Given the description of an element on the screen output the (x, y) to click on. 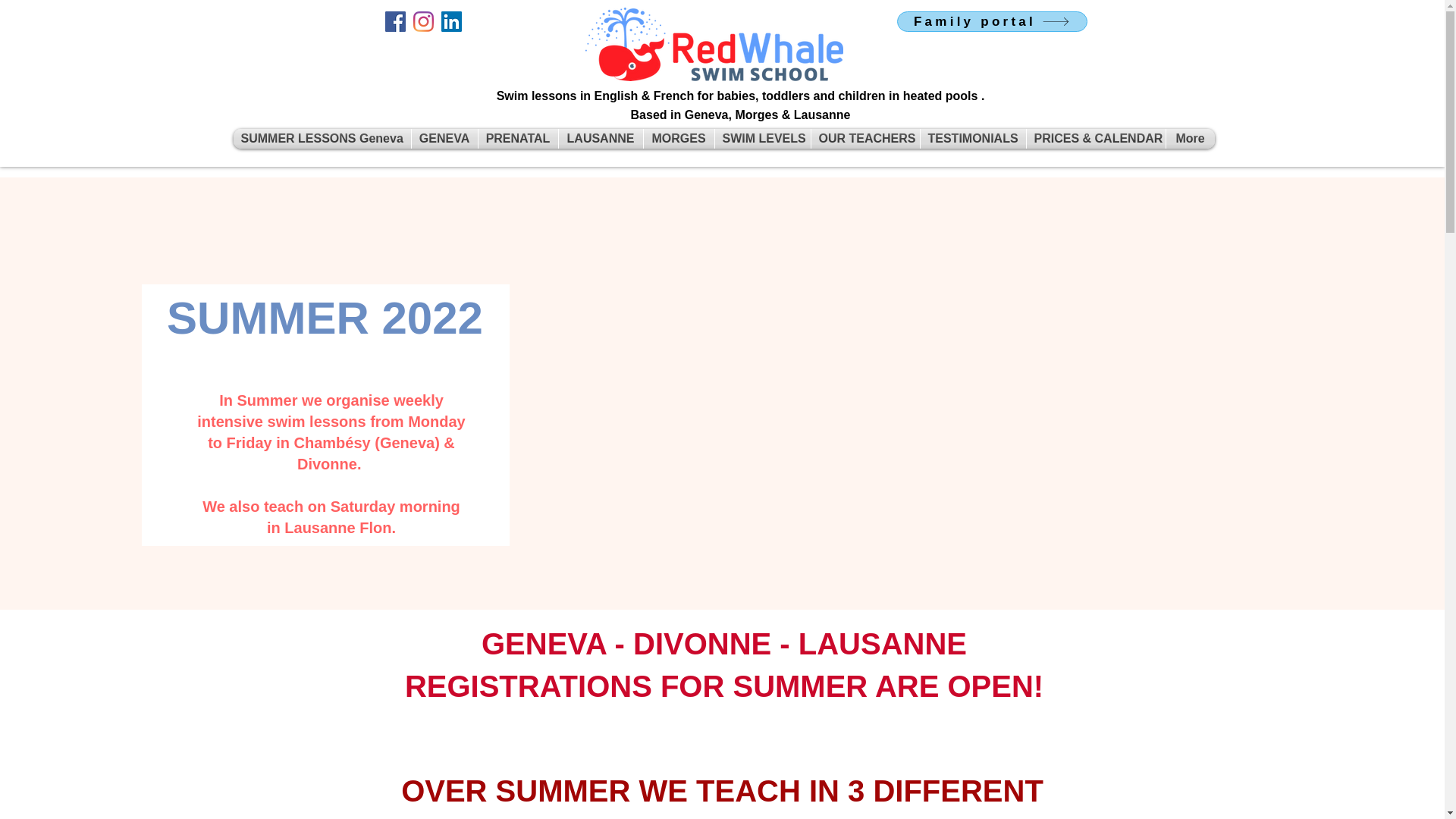
TESTIMONIALS (973, 138)
SWIM LEVELS (761, 138)
SUMMER LESSONS Geneva (321, 138)
Family portal (991, 21)
GENEVA - DIVONNE - LAUSANNE (723, 643)
REGISTRATIONS FOR SUMMER ARE OPEN! (723, 685)
PRENATAL (517, 138)
LAUSANNE (599, 138)
MORGES (678, 138)
OUR TEACHERS (865, 138)
GENEVA (443, 138)
